Given the description of an element on the screen output the (x, y) to click on. 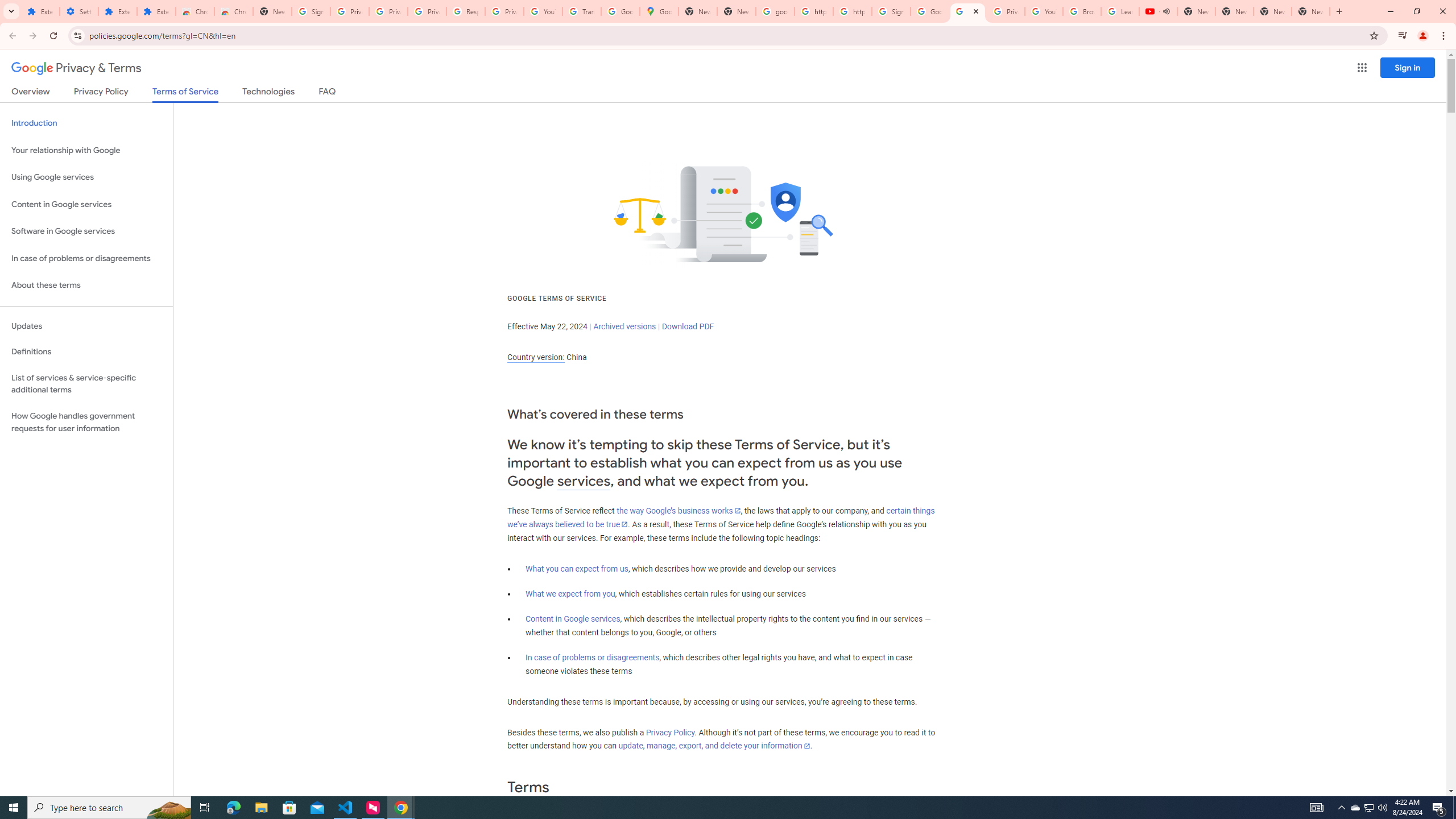
List of services & service-specific additional terms (86, 383)
Your relationship with Google (86, 150)
Using Google services (86, 176)
New Tab (272, 11)
